Given the description of an element on the screen output the (x, y) to click on. 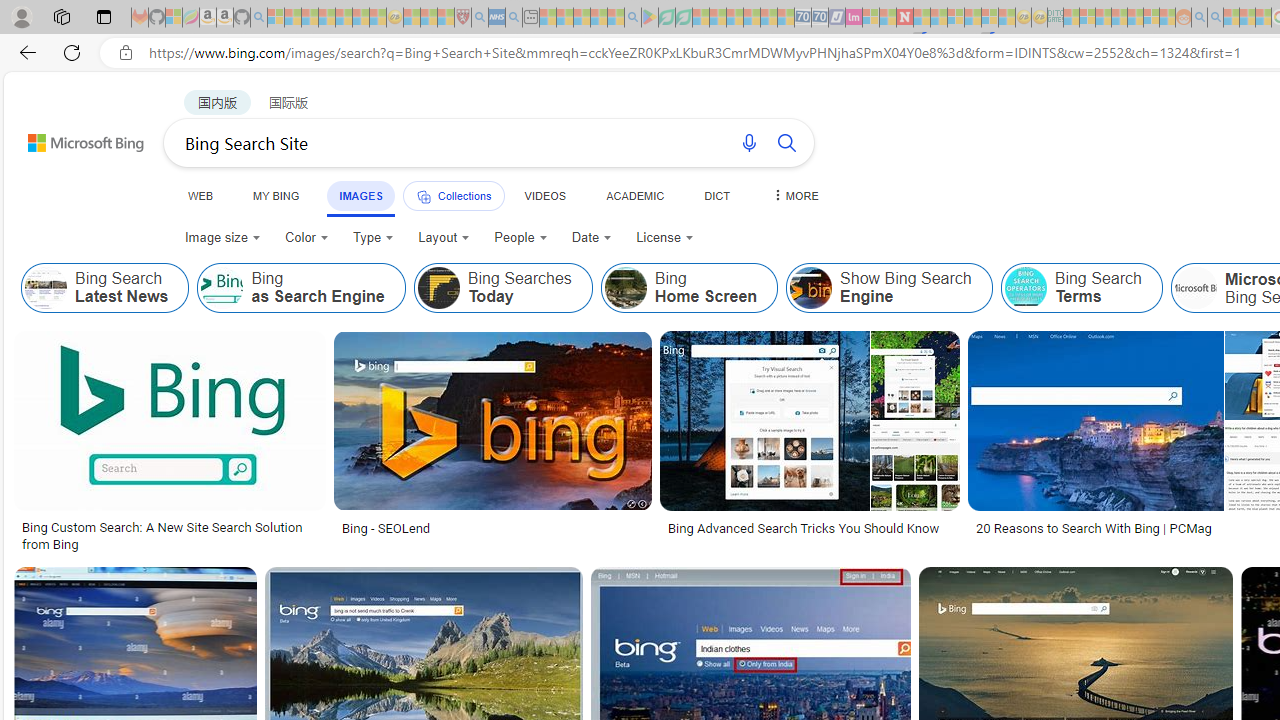
DICT (717, 195)
